Given the description of an element on the screen output the (x, y) to click on. 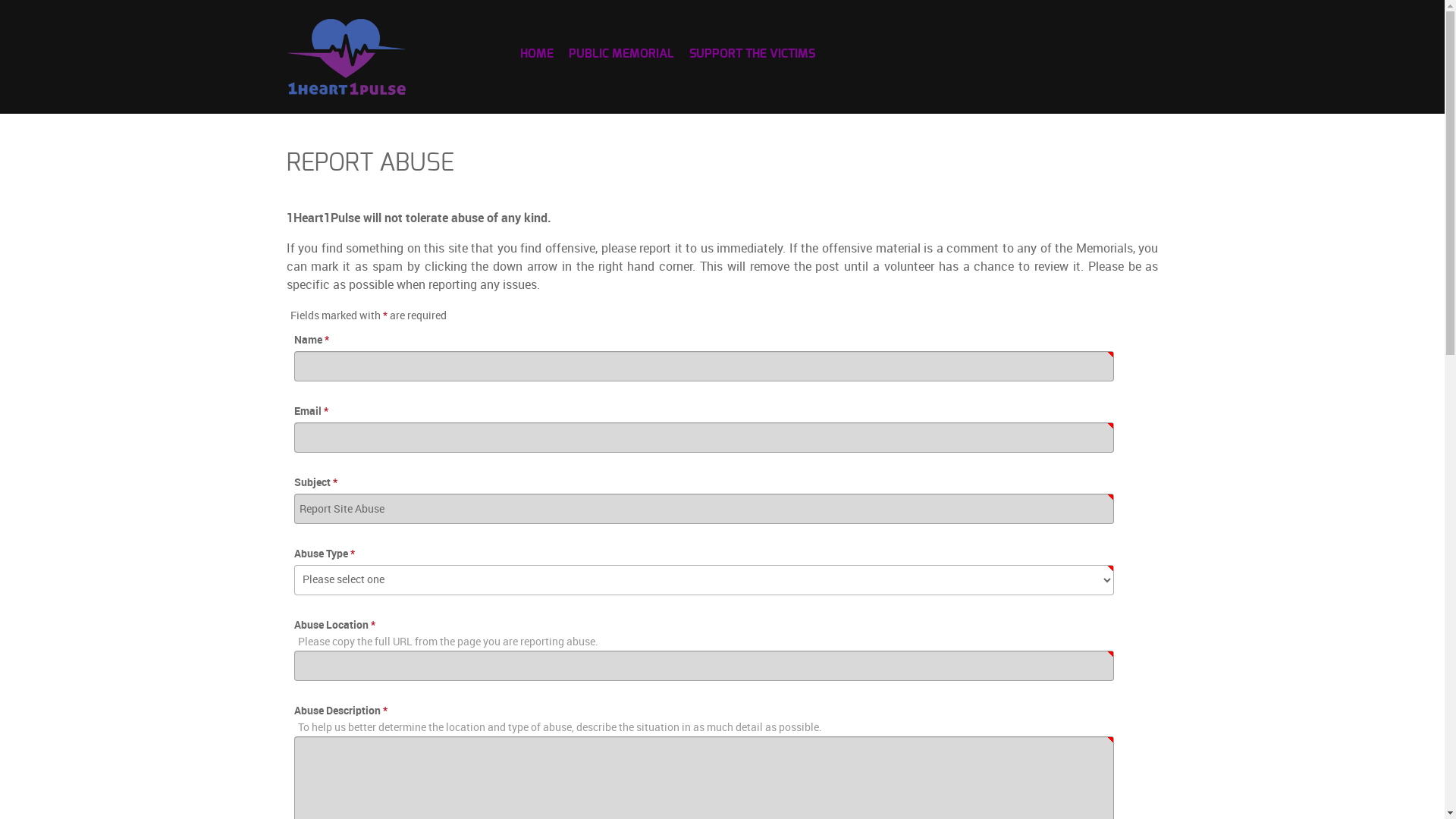
SUPPORT THE VICTIMS Element type: text (751, 52)
PUBLIC MEMORIAL Element type: text (621, 52)
HOME Element type: text (536, 52)
